Given the description of an element on the screen output the (x, y) to click on. 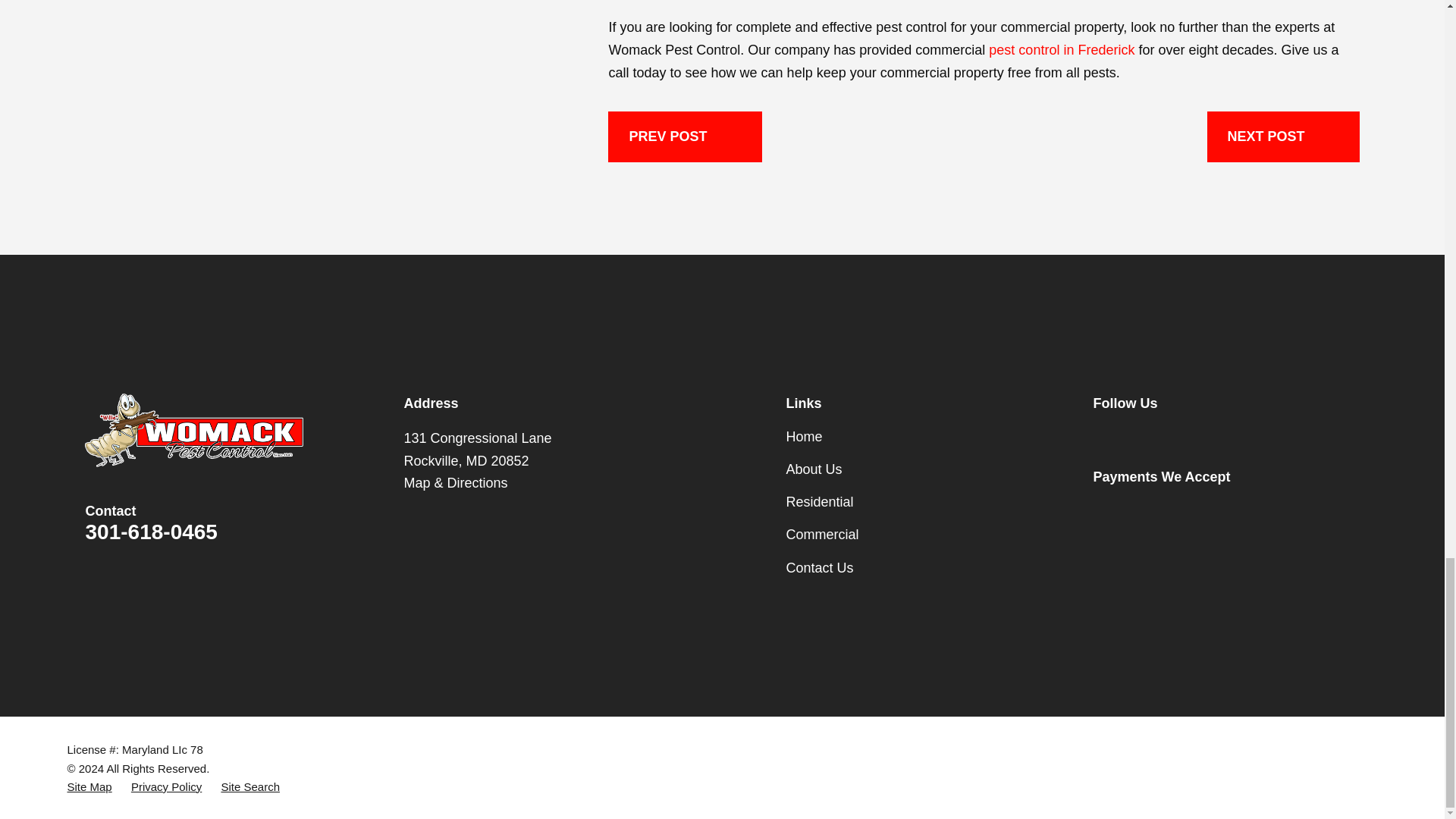
AMEX (1151, 510)
Facebook (1102, 436)
Cash (1299, 510)
Discover (1250, 510)
Home (193, 429)
Visa (1102, 510)
MasterCard (1201, 510)
Google Business Profile (1151, 436)
